Given the description of an element on the screen output the (x, y) to click on. 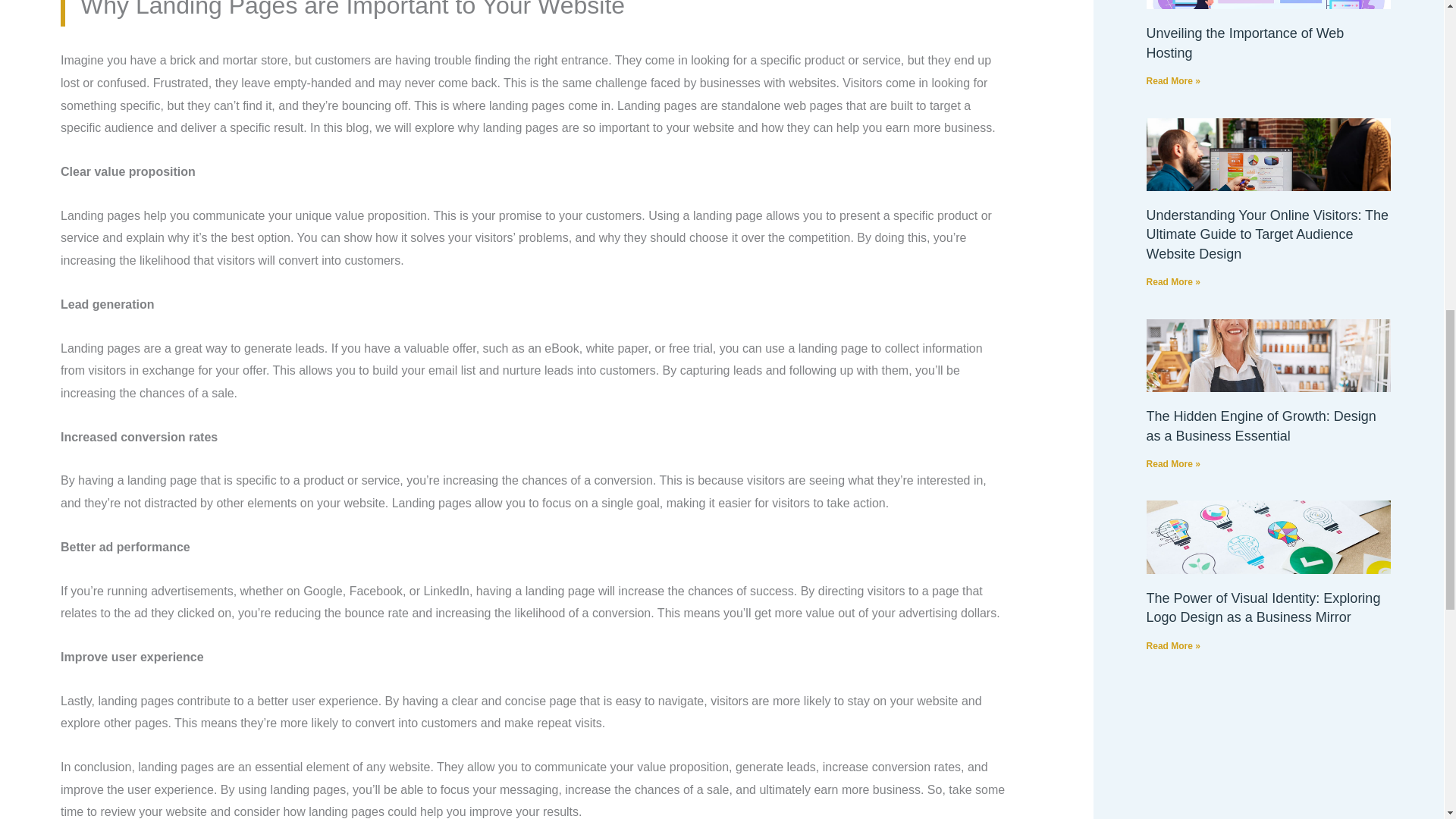
Unveiling the Importance of Web Hosting (1245, 42)
